Given the description of an element on the screen output the (x, y) to click on. 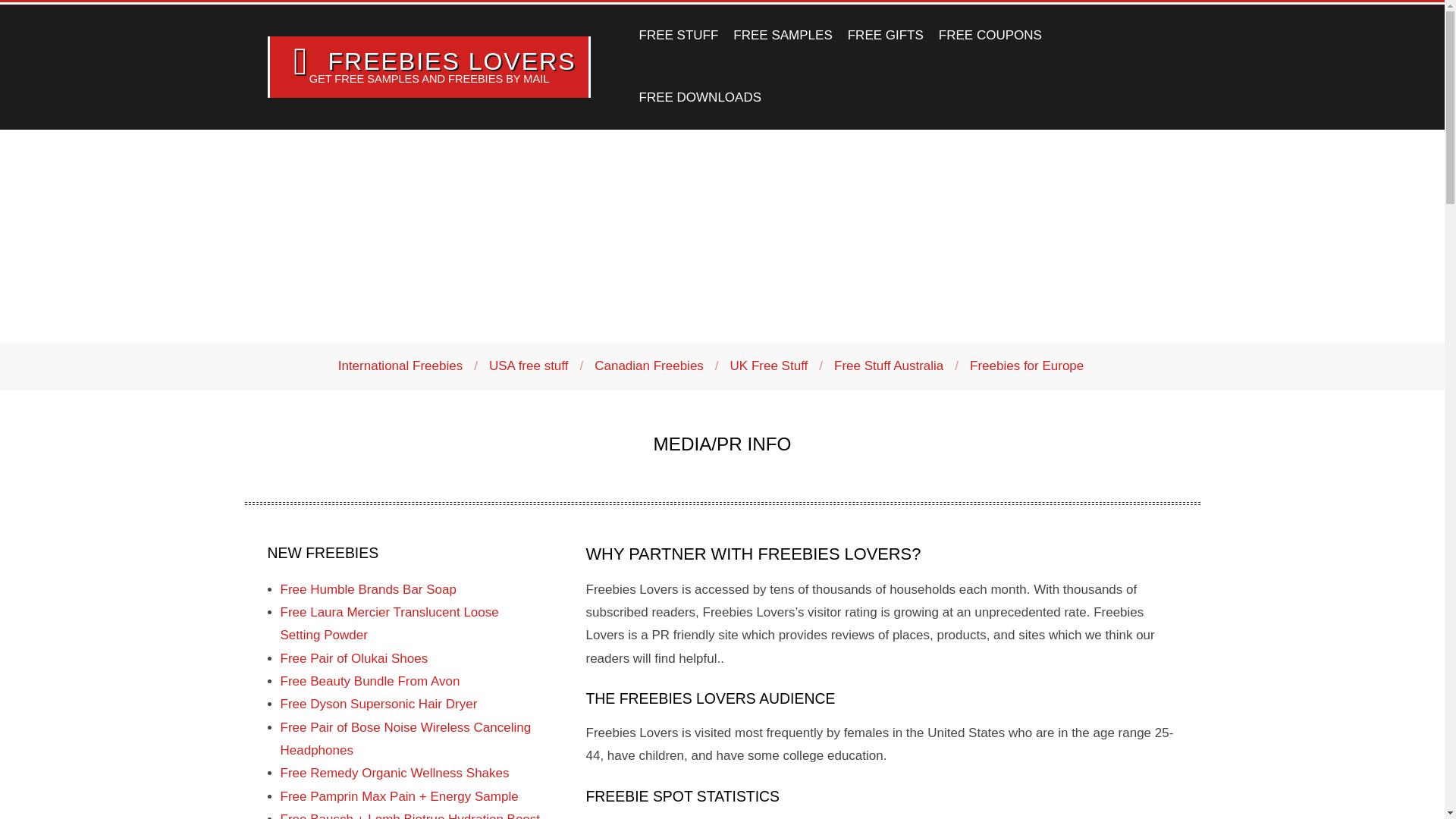
Canadian Freebies (648, 365)
USA free stuff (529, 365)
FREE SAMPLES (782, 35)
Freebies for Europe (1026, 365)
FREE STUFF (677, 35)
FREE GIFTS (885, 35)
Free Pair of Olukai Shoes (354, 658)
Free Humble Brands Bar Soap (369, 589)
Free Laura Mercier Translucent Loose Setting Powder (390, 623)
